Given the description of an element on the screen output the (x, y) to click on. 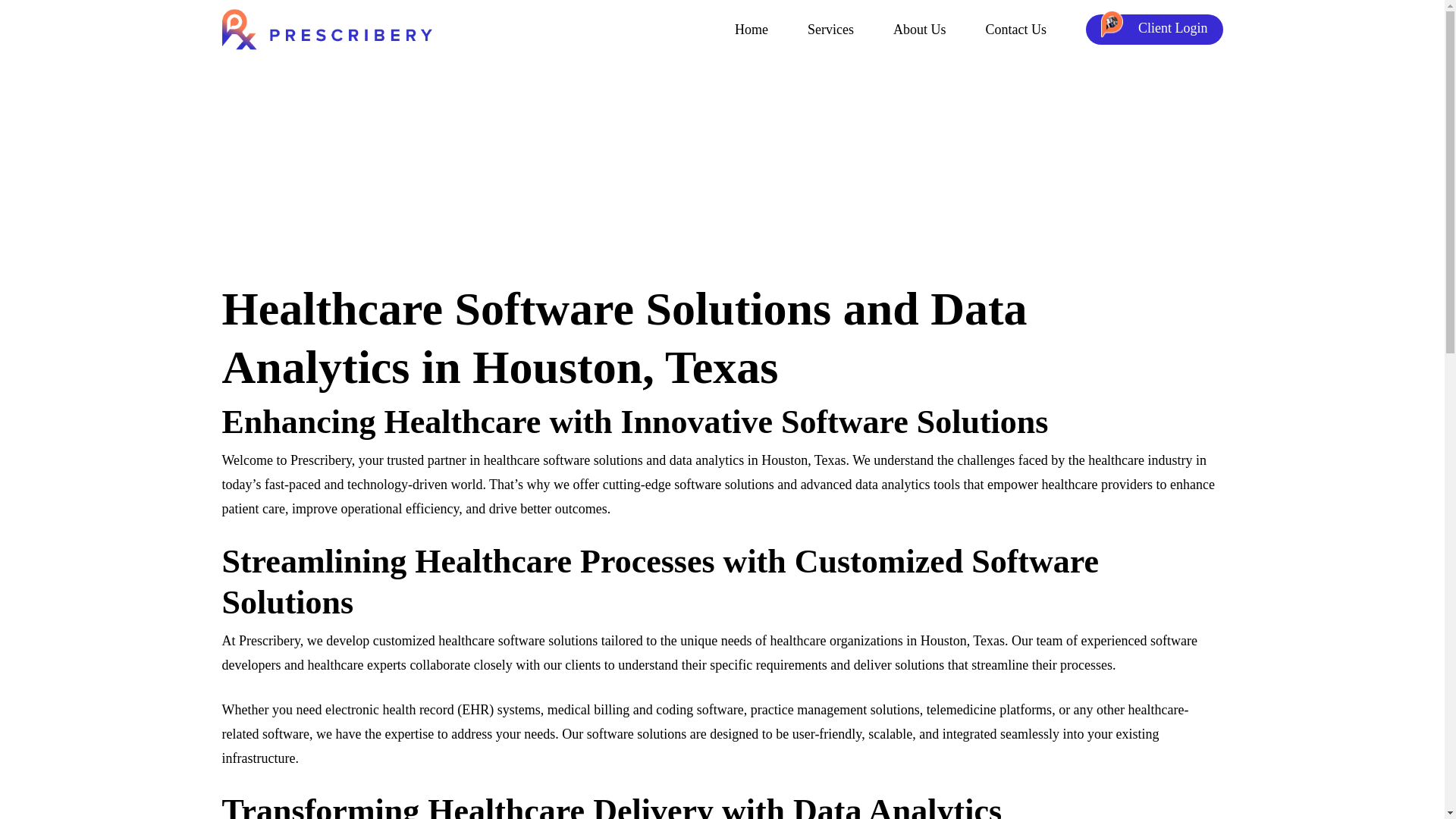
Services (830, 29)
Contact Us (1015, 29)
Client Login (1154, 29)
About Us (919, 29)
Home (751, 29)
